Given the description of an element on the screen output the (x, y) to click on. 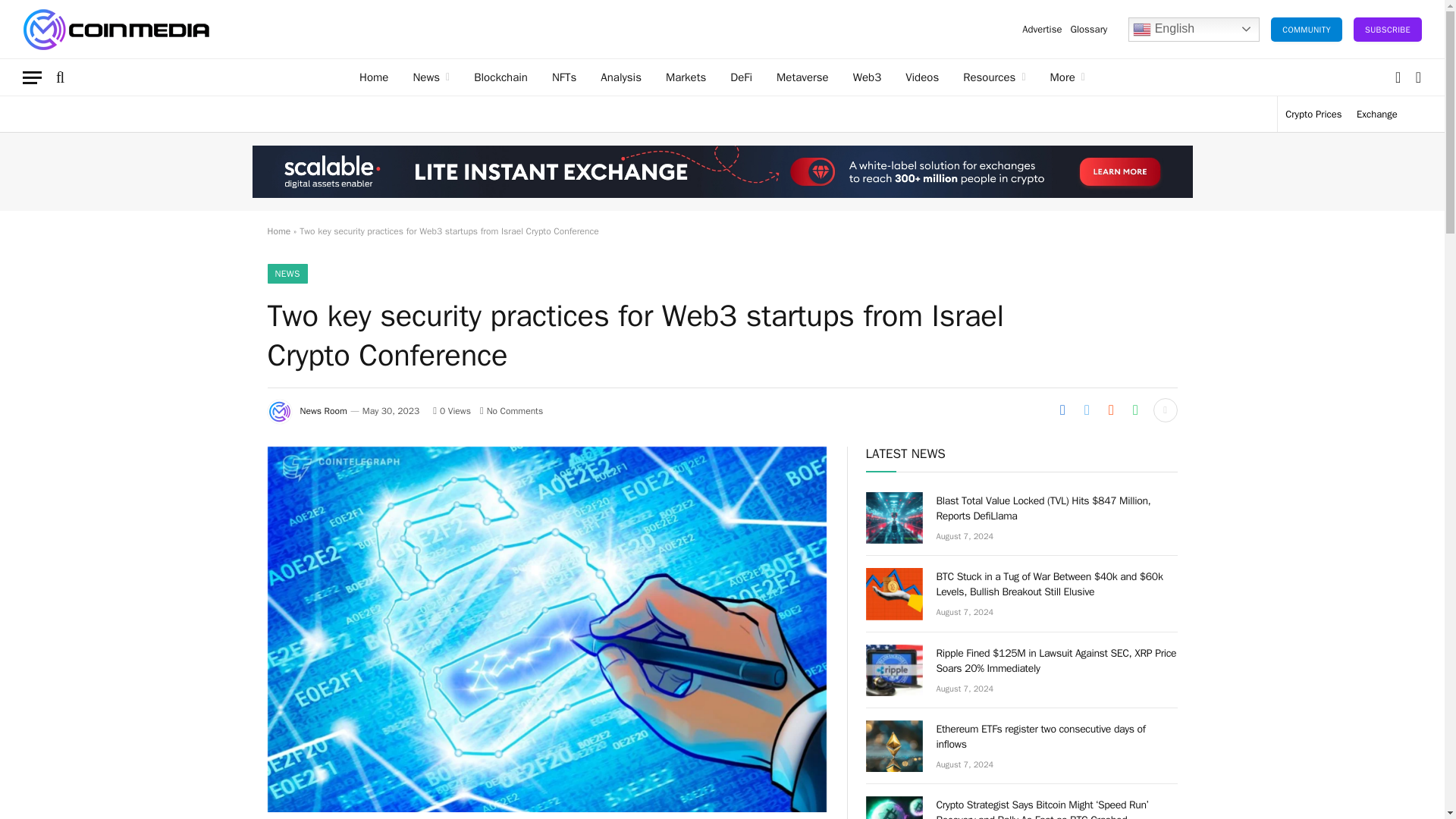
Glossary (1087, 29)
Advertise (1041, 29)
Coin Media (116, 28)
